Given the description of an element on the screen output the (x, y) to click on. 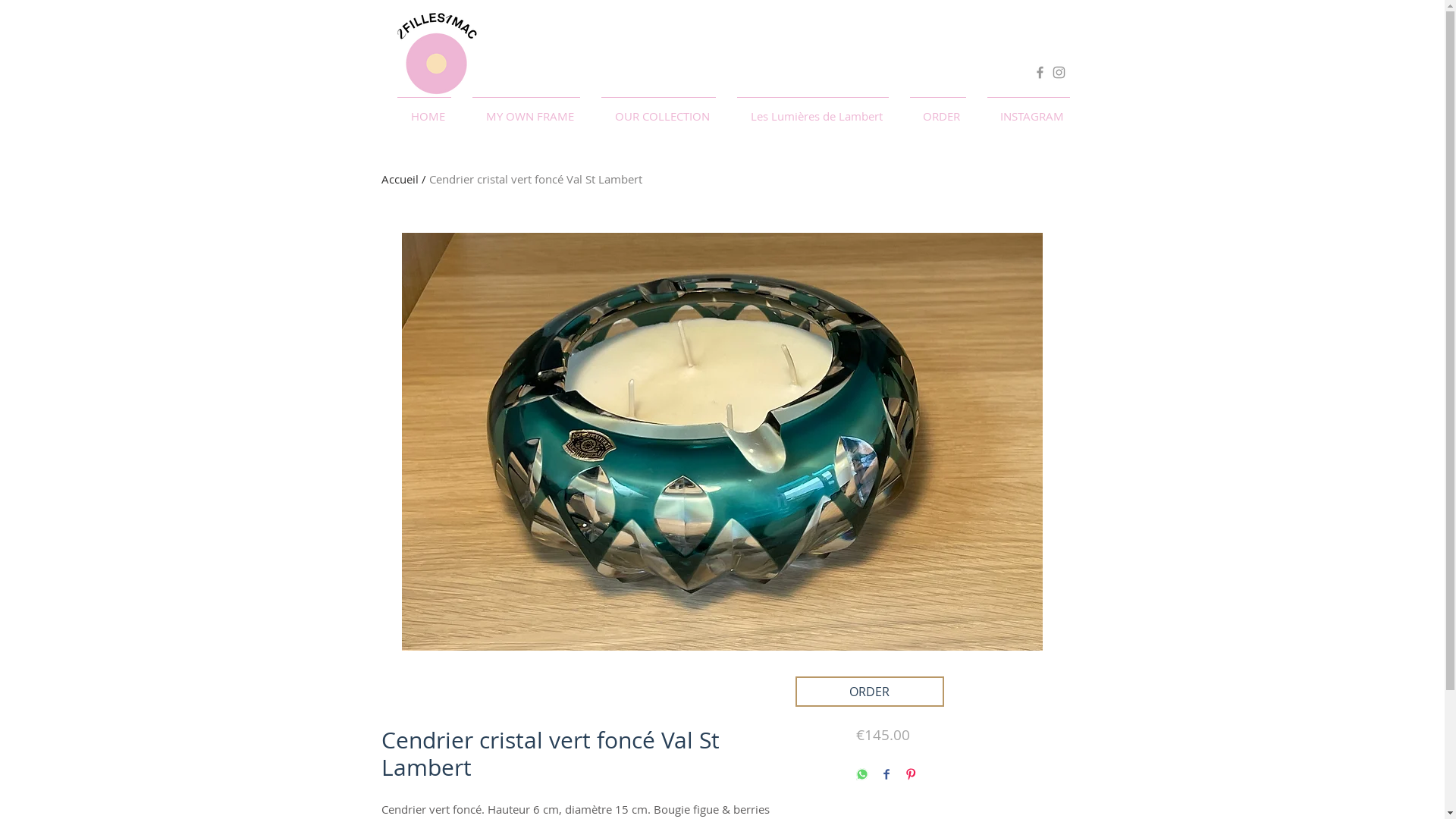
2filles1mac_logos_HD-01.png Element type: hover (435, 52)
ORDER Element type: text (868, 691)
OUR COLLECTION Element type: text (657, 109)
HOME Element type: text (423, 109)
Accueil Element type: text (398, 178)
INSTAGRAM Element type: text (1028, 109)
MY OWN FRAME Element type: text (525, 109)
ORDER Element type: text (937, 109)
